Given the description of an element on the screen output the (x, y) to click on. 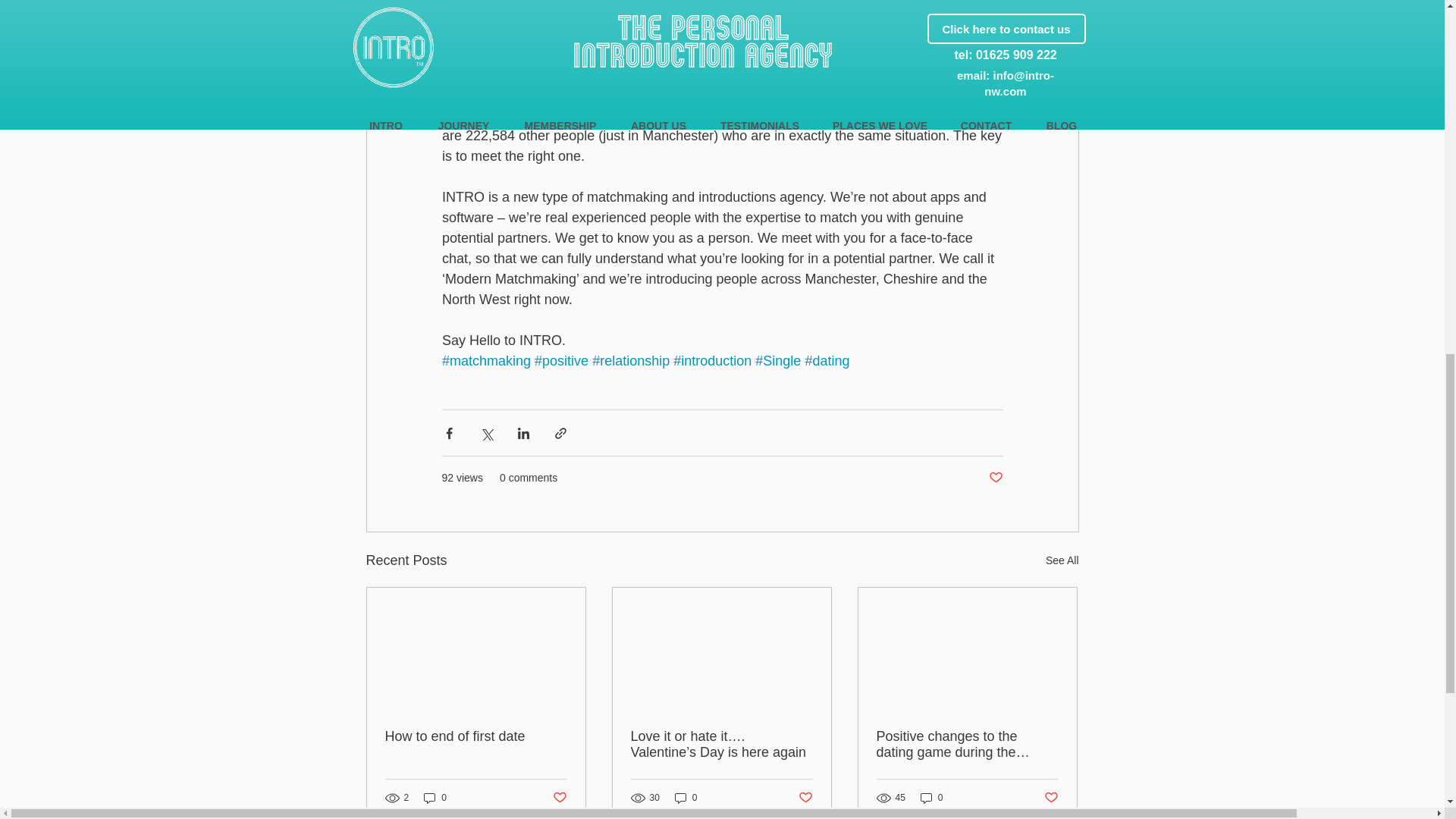
0 (435, 797)
How to end of first date (476, 736)
0 (685, 797)
See All (1061, 560)
Post not marked as liked (804, 797)
Post not marked as liked (995, 478)
Post not marked as liked (558, 797)
